Given the description of an element on the screen output the (x, y) to click on. 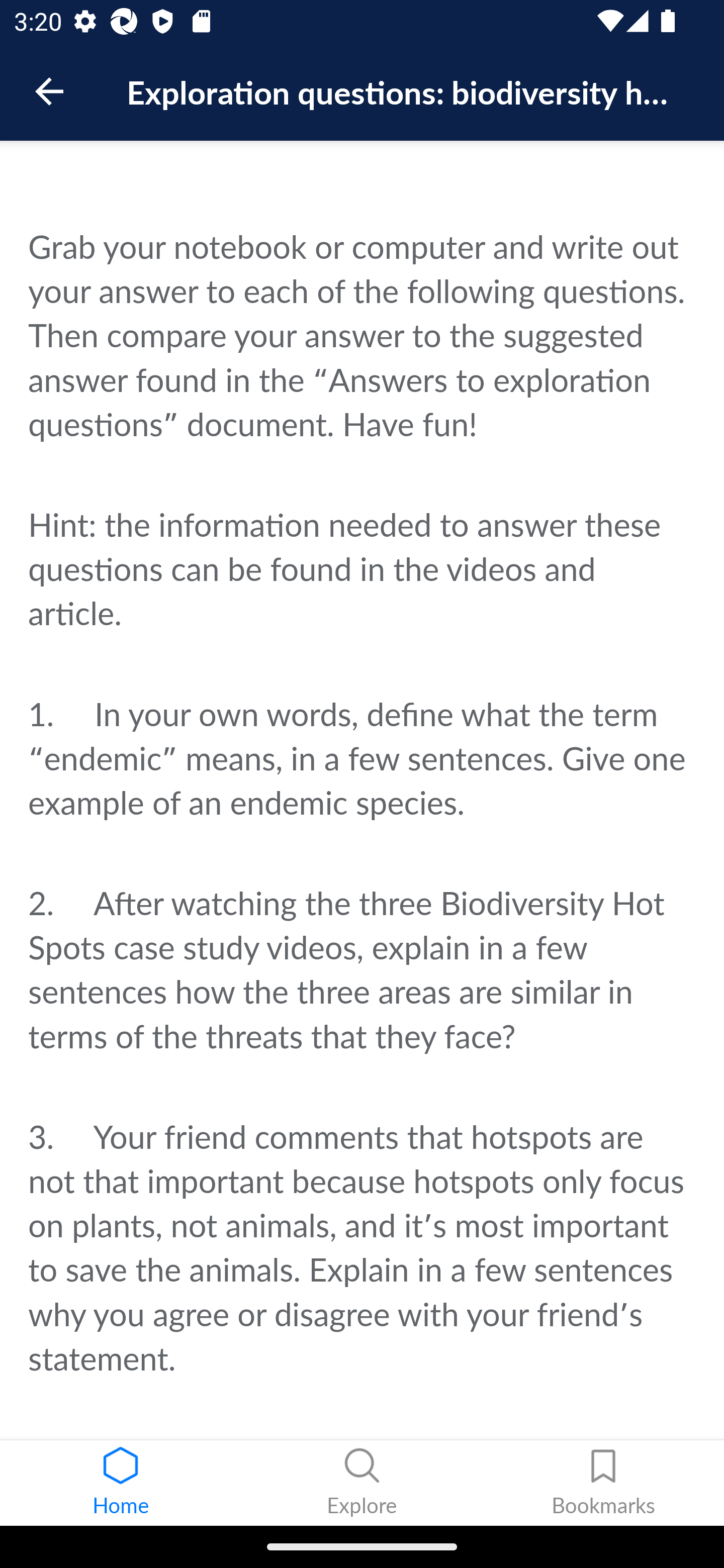
Navigate up (49, 91)
Home (120, 1482)
Explore (361, 1482)
Bookmarks (603, 1482)
